Given the description of an element on the screen output the (x, y) to click on. 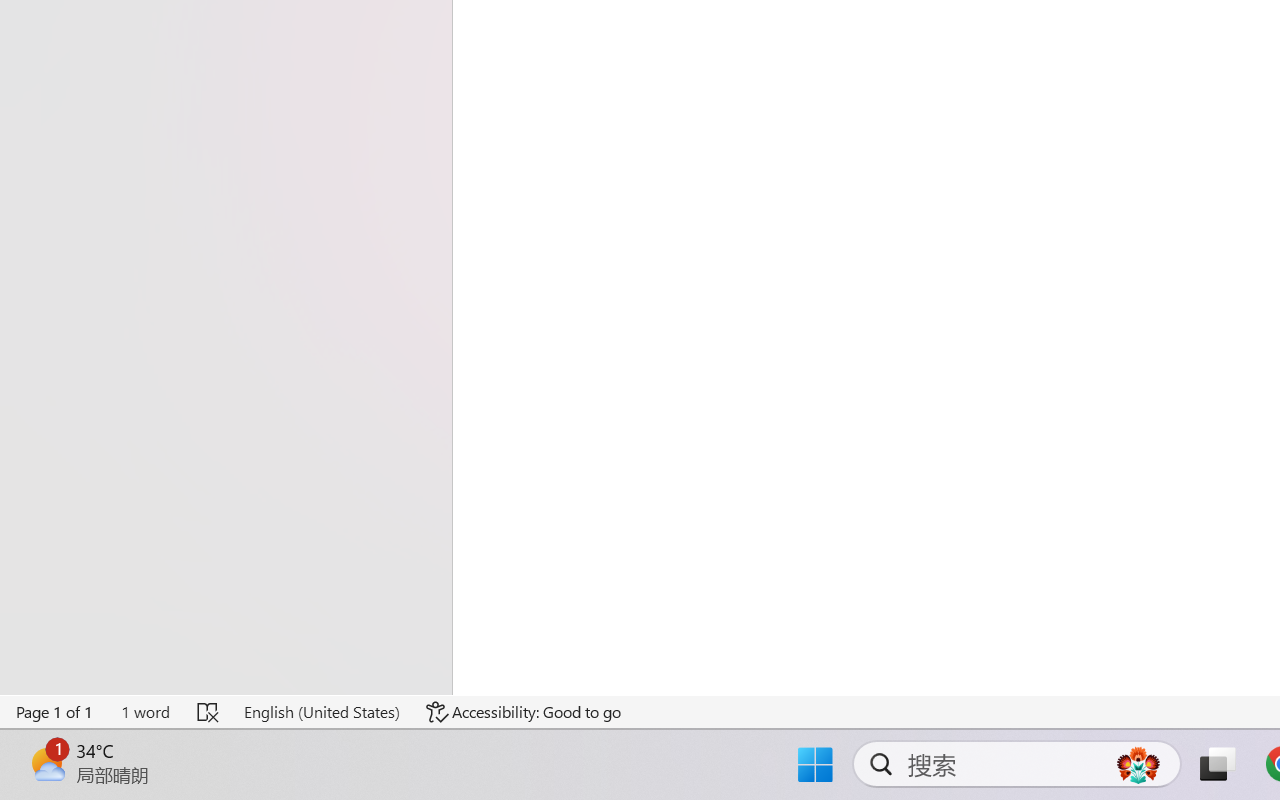
Spelling and Grammar Check Errors (208, 712)
